Given the description of an element on the screen output the (x, y) to click on. 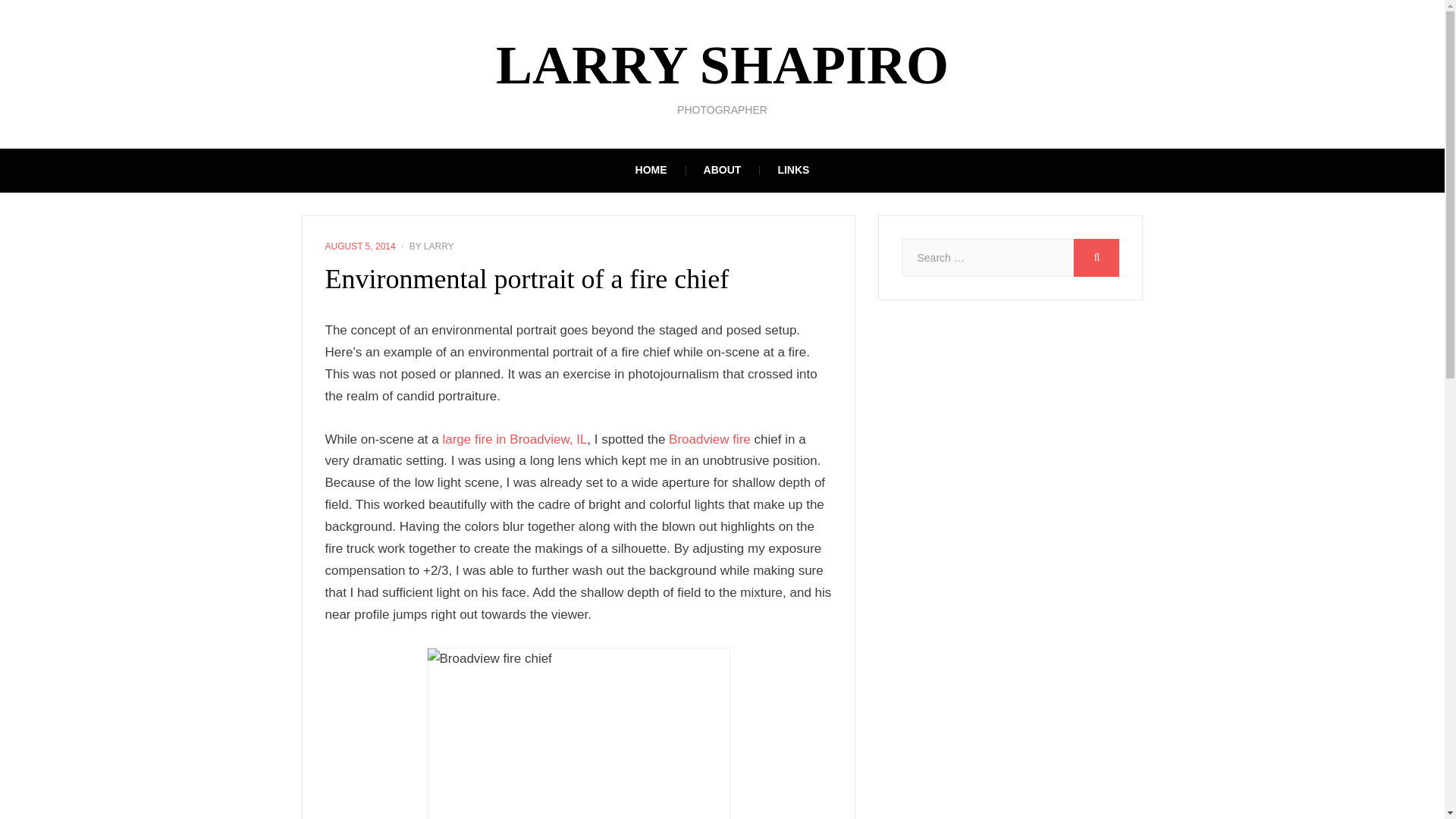
Broadview fire (709, 439)
SEARCH (1096, 257)
Larry Shapiro (722, 65)
Search for: (987, 257)
ABOUT (722, 170)
LINKS (792, 170)
LARRY (438, 245)
AUGUST 5, 2014 (359, 245)
large fire in Broadview, IL (514, 439)
HOME (651, 170)
